Given the description of an element on the screen output the (x, y) to click on. 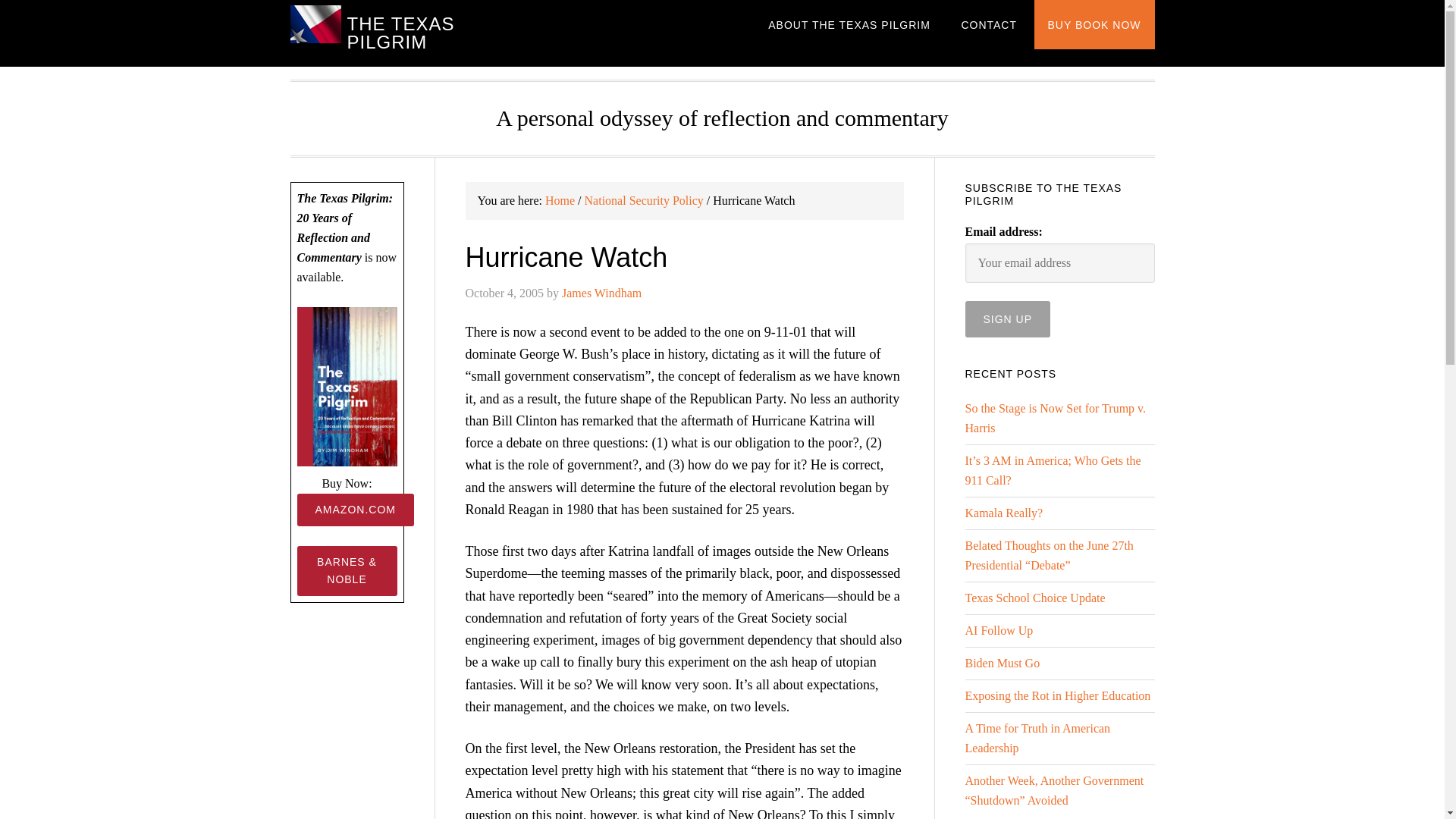
BUY BOOK NOW (1093, 24)
A Time for Truth in American Leadership (1036, 737)
Biden Must Go (1001, 662)
James Windham (602, 292)
AI Follow Up (997, 630)
THE TEXAS PILGRIM (400, 32)
Sign up (1006, 319)
National Security Policy (644, 200)
So the Stage is Now Set for Trump v. Harris (1054, 418)
AMAZON.COM (355, 509)
